Given the description of an element on the screen output the (x, y) to click on. 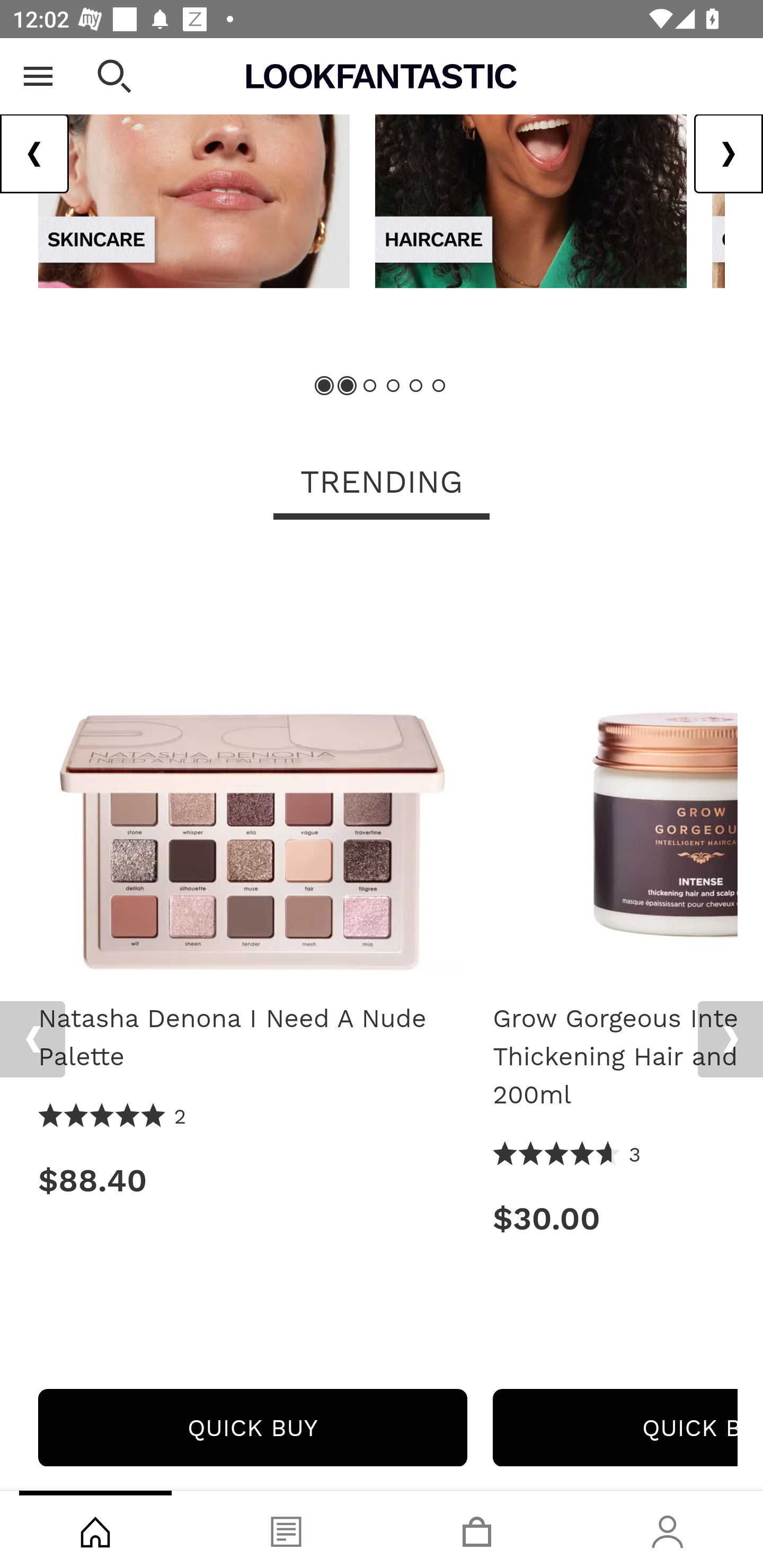
view-all (193, 162)
view-all (530, 162)
Previous (35, 155)
Next (727, 155)
Showing Slide 1 (Current Item) (324, 386)
Showing Slide 2 (Current Item) (347, 386)
Slide 3 (369, 386)
Slide 4 (393, 386)
Slide 5 (415, 386)
Slide 6 (437, 386)
TRENDING (381, 484)
Natasha Denona I Need A Nude Palette (252, 766)
Natasha Denona I Need A Nude Palette (252, 1037)
Previous (32, 1039)
Next (730, 1039)
5.0 Stars 2 Reviews (112, 1117)
4.67 Stars 3 Reviews (567, 1155)
Price: $88.40 (252, 1181)
Price: $30.00 (614, 1219)
QUICK BUY NATASHA DENONA I NEED A NUDE PALETTE (252, 1428)
Shop, tab, 1 of 4 (95, 1529)
Blog, tab, 2 of 4 (285, 1529)
Basket, tab, 3 of 4 (476, 1529)
Account, tab, 4 of 4 (667, 1529)
